Given the description of an element on the screen output the (x, y) to click on. 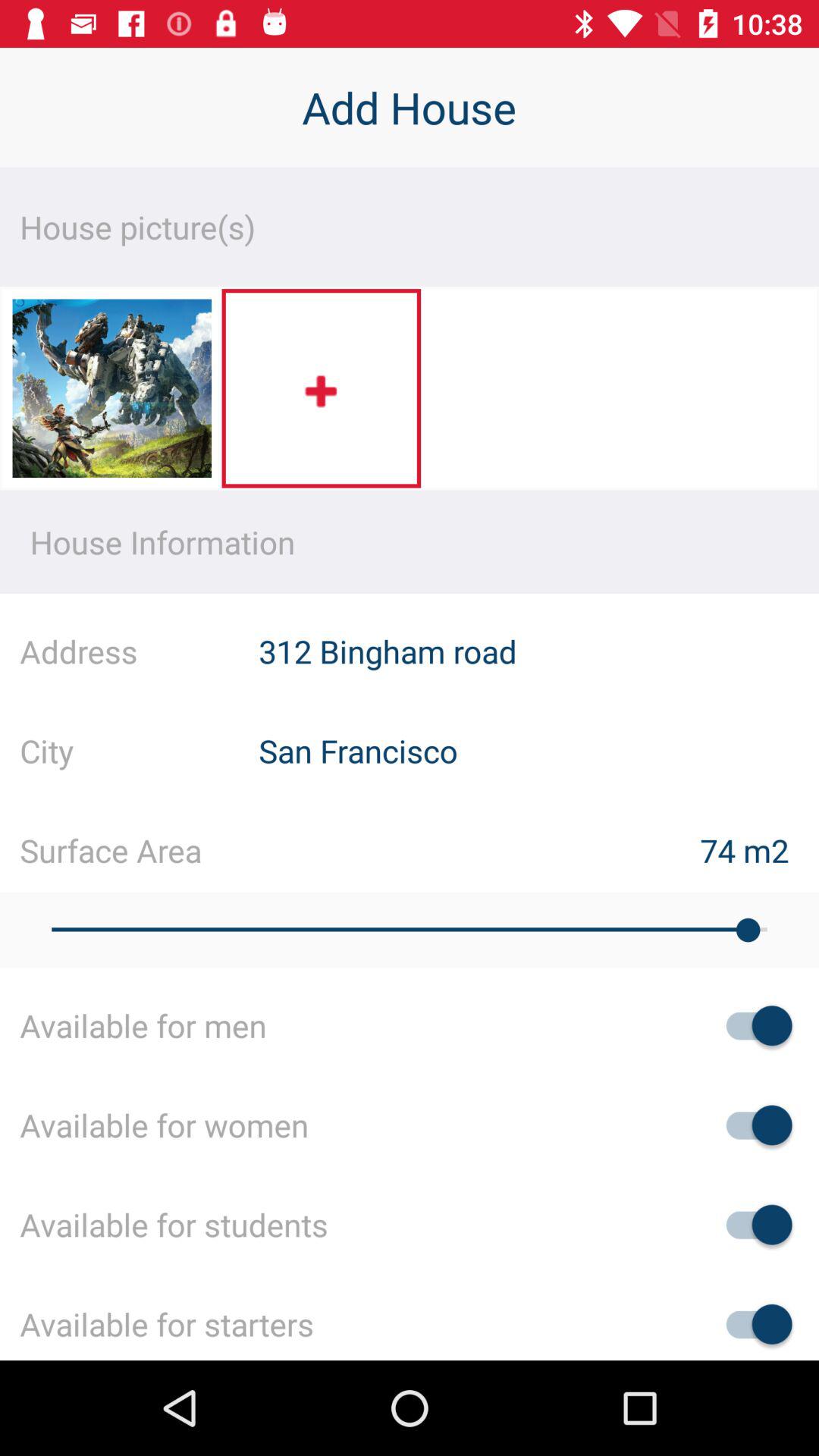
open item below house picture(s) (111, 393)
